Given the description of an element on the screen output the (x, y) to click on. 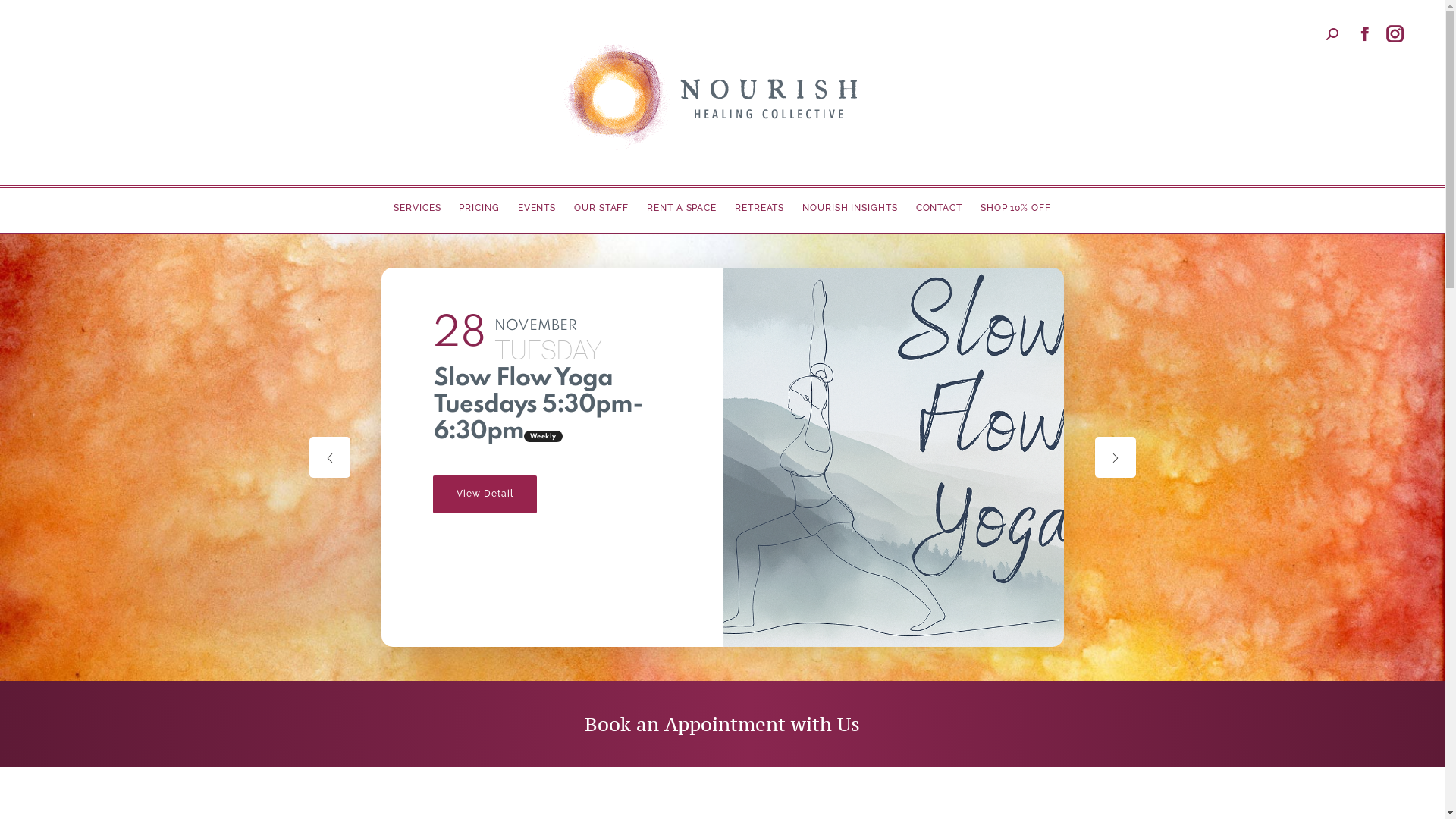
Book an Appointment with Us Element type: text (721, 724)
SERVICES Element type: text (416, 207)
EVENTS Element type: text (536, 207)
CONTACT Element type: text (938, 207)
PRICING Element type: text (478, 207)
Go! Element type: text (24, 17)
Facebook page opens in new window Element type: text (1364, 33)
NOURISH INSIGHTS Element type: text (849, 207)
RETREATS Element type: text (759, 207)
RENT A SPACE Element type: text (681, 207)
Instagram page opens in new window Element type: text (1394, 33)
OUR STAFF Element type: text (600, 207)
View Detail Element type: text (484, 494)
Slow Flow Yoga Tuesdays 5:30pm-6:30pm Element type: text (538, 405)
SHOP 10% OFF Element type: text (1015, 207)
